Given the description of an element on the screen output the (x, y) to click on. 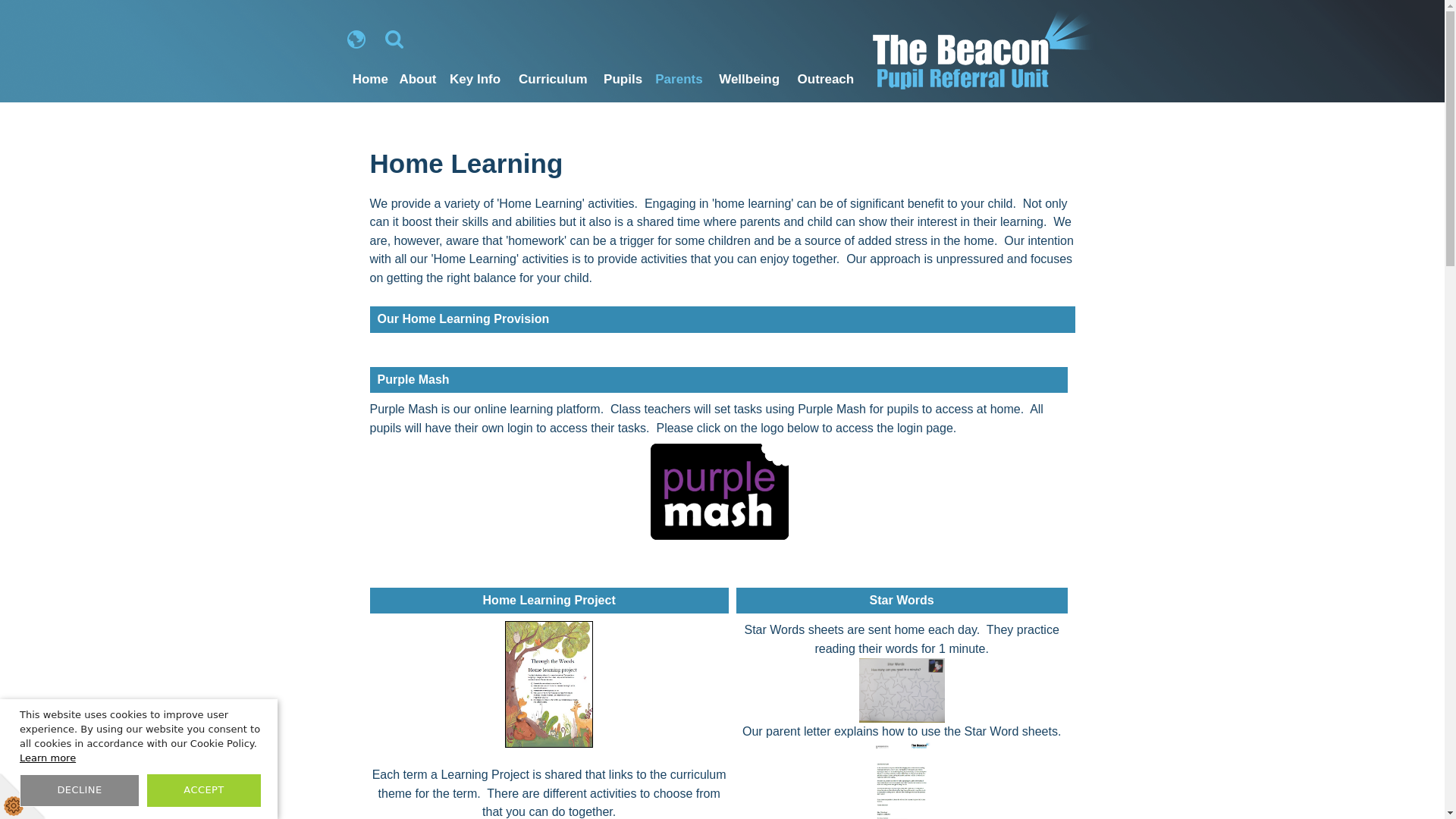
Home (370, 79)
About (417, 79)
Search site (394, 39)
Search site (394, 39)
Key Info (475, 79)
Click to read the Star Word parent letter (901, 780)
Pupils (621, 79)
Parents (678, 79)
Curriculum (552, 79)
Click here for the Purple Mash login page (718, 491)
